Given the description of an element on the screen output the (x, y) to click on. 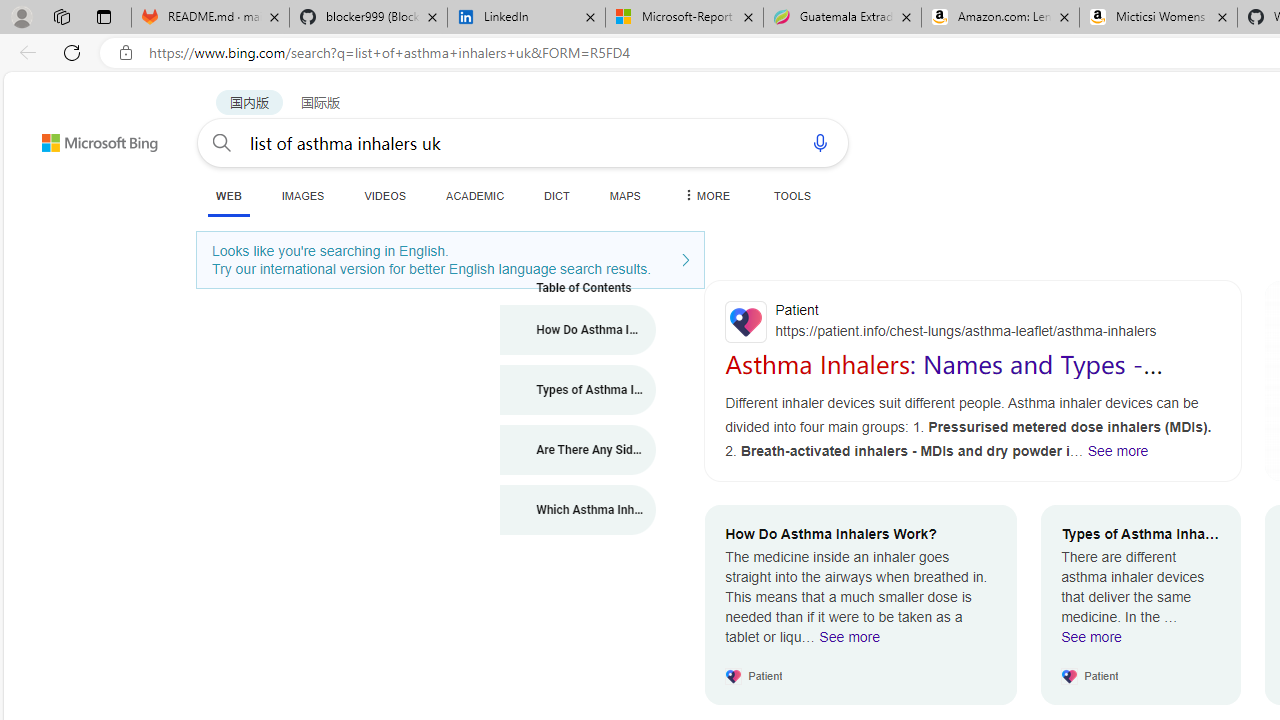
Asthma Inhalers: Names and Types - Patient (943, 378)
